Given the description of an element on the screen output the (x, y) to click on. 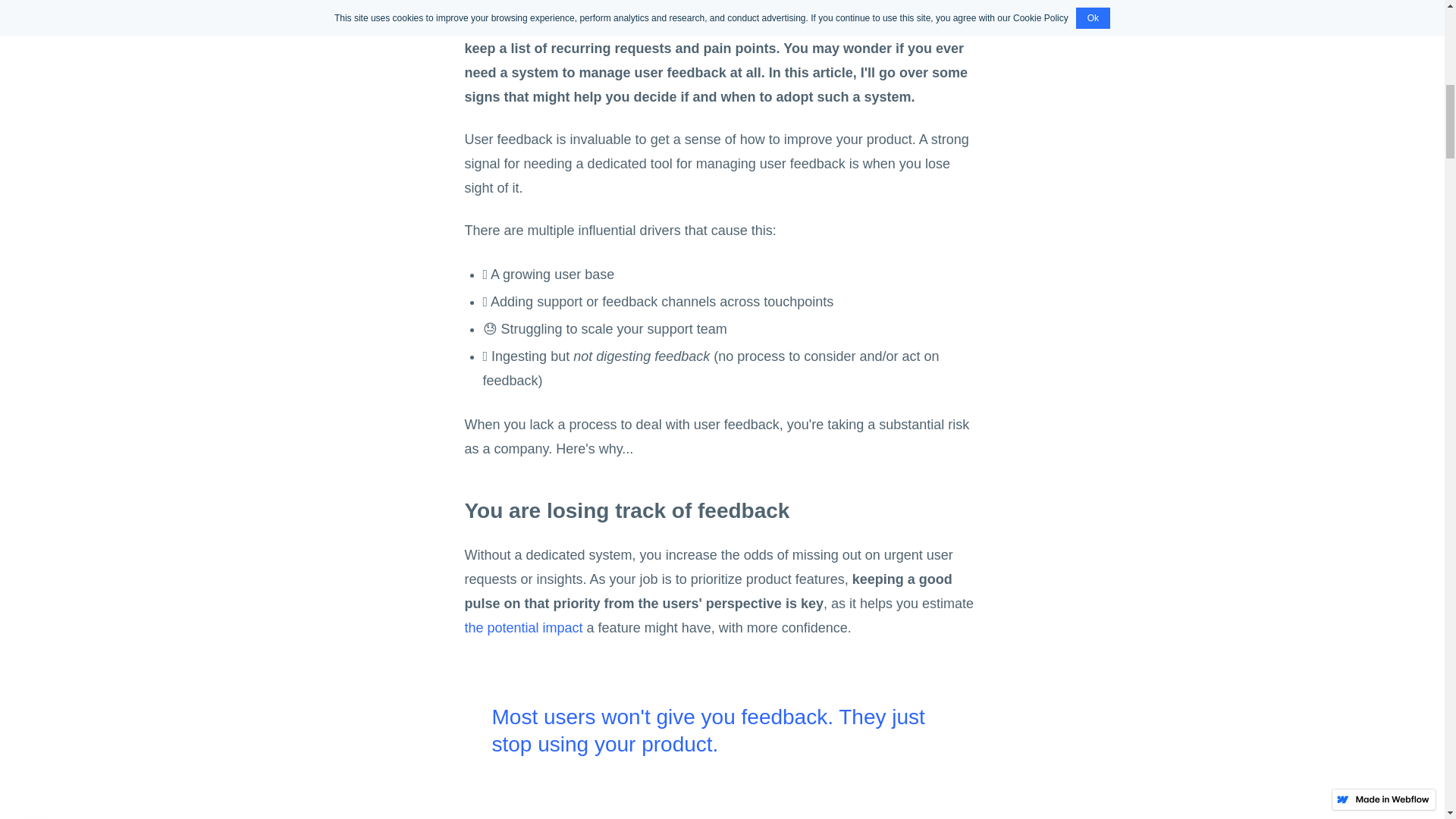
the potential impact (523, 627)
